Given the description of an element on the screen output the (x, y) to click on. 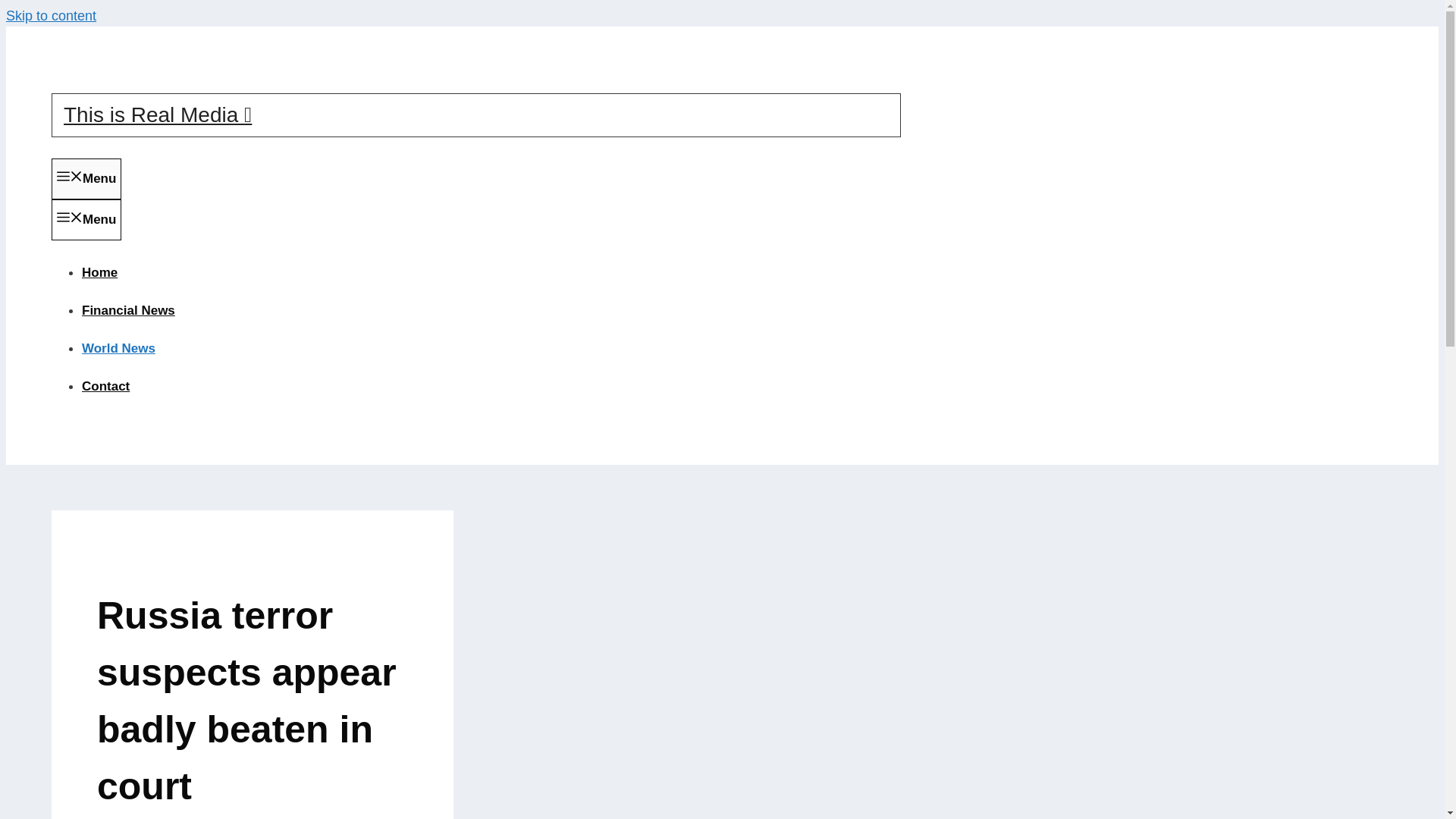
Menu (85, 178)
Home (99, 272)
World News (118, 348)
Menu (85, 219)
Contact (105, 386)
Skip to content (50, 15)
Skip to content (50, 15)
Financial News (127, 310)
